Given the description of an element on the screen output the (x, y) to click on. 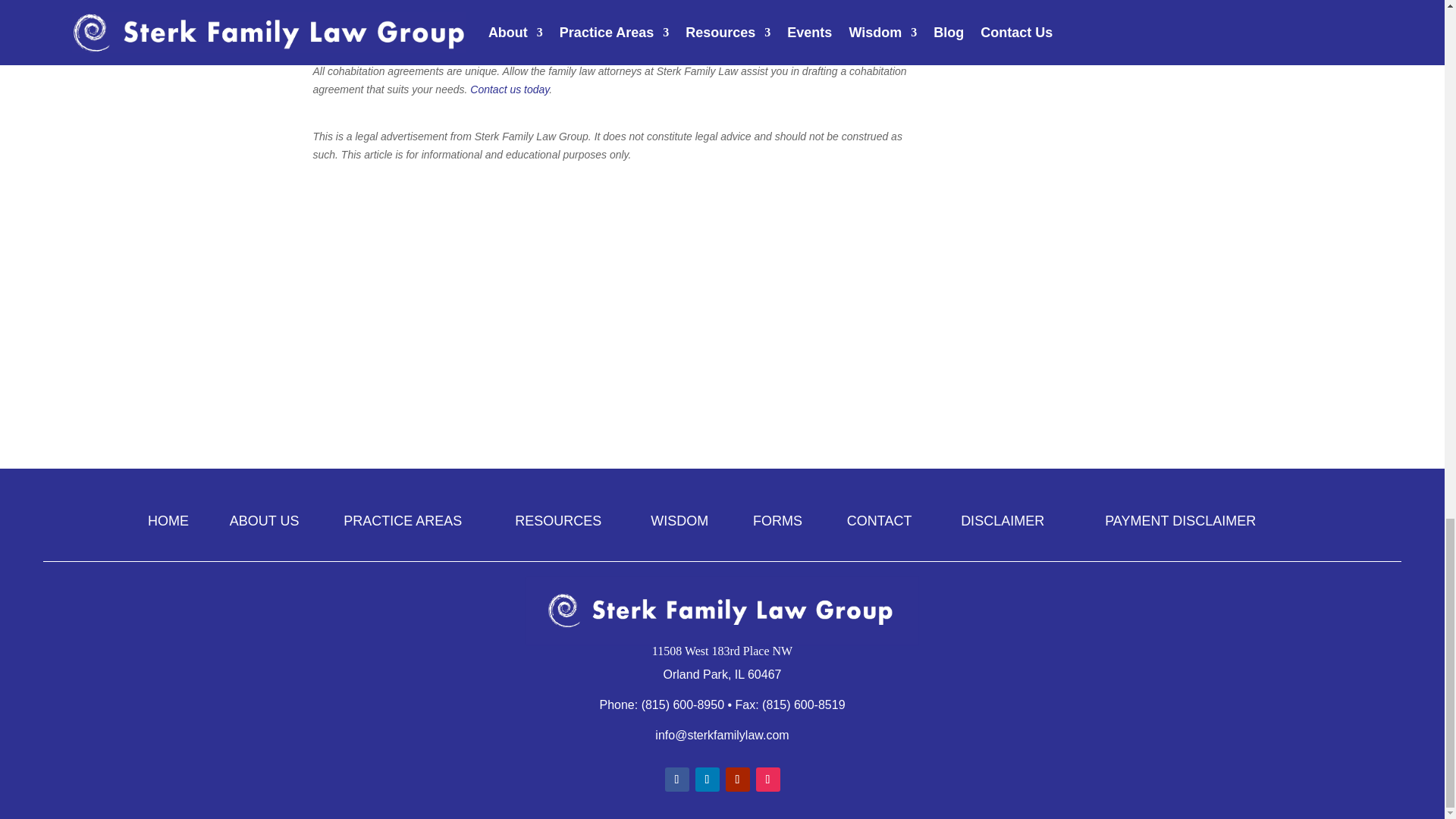
Follow on Youtube (737, 779)
Follow on Instagram (766, 779)
Follow on Facebook (675, 779)
Follow on LinkedIn (706, 779)
